Given the description of an element on the screen output the (x, y) to click on. 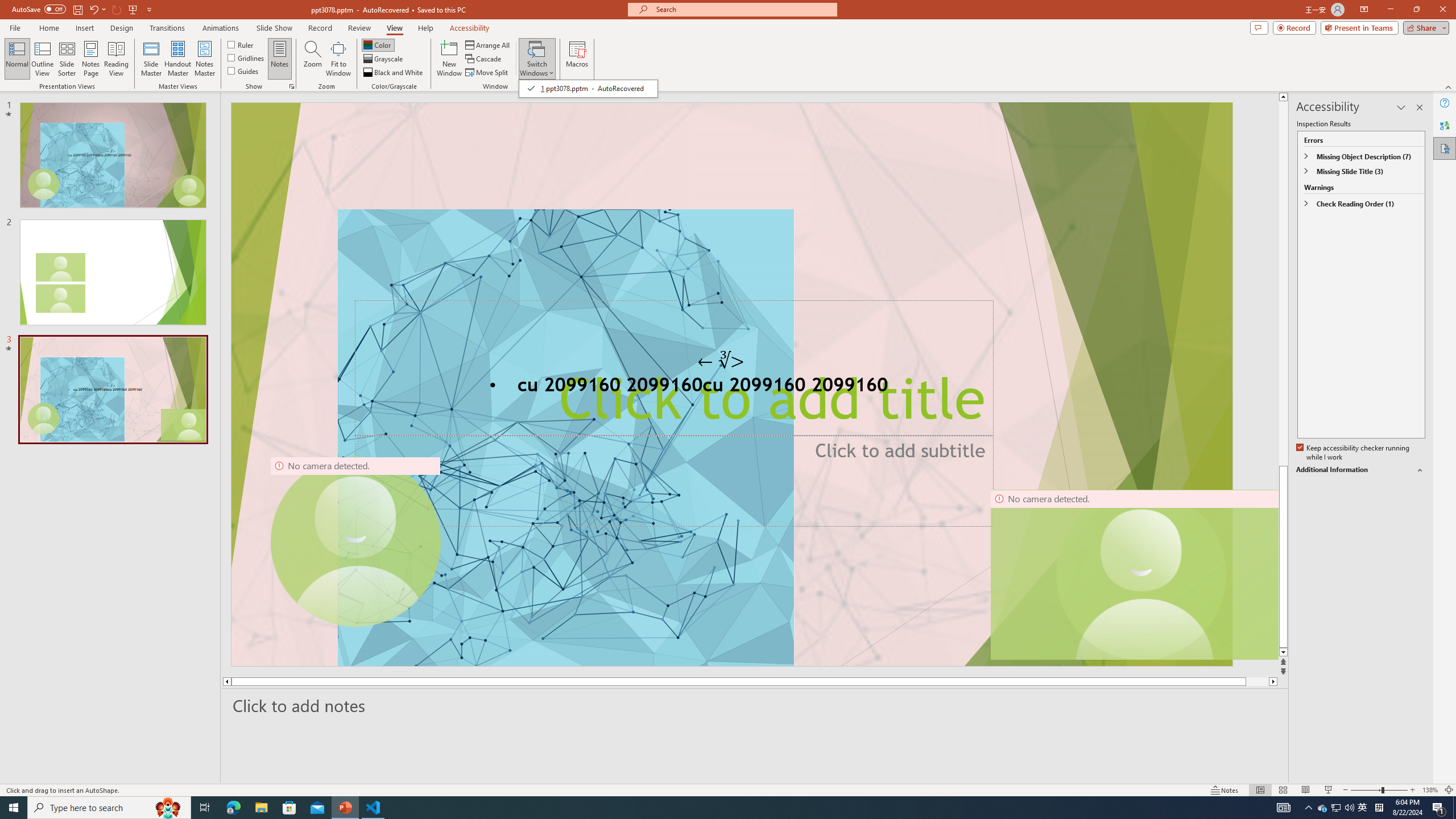
Running applications (700, 807)
Grid Settings... (291, 85)
Notes Master (204, 58)
TextBox 7 (720, 360)
Color (377, 44)
